Given the description of an element on the screen output the (x, y) to click on. 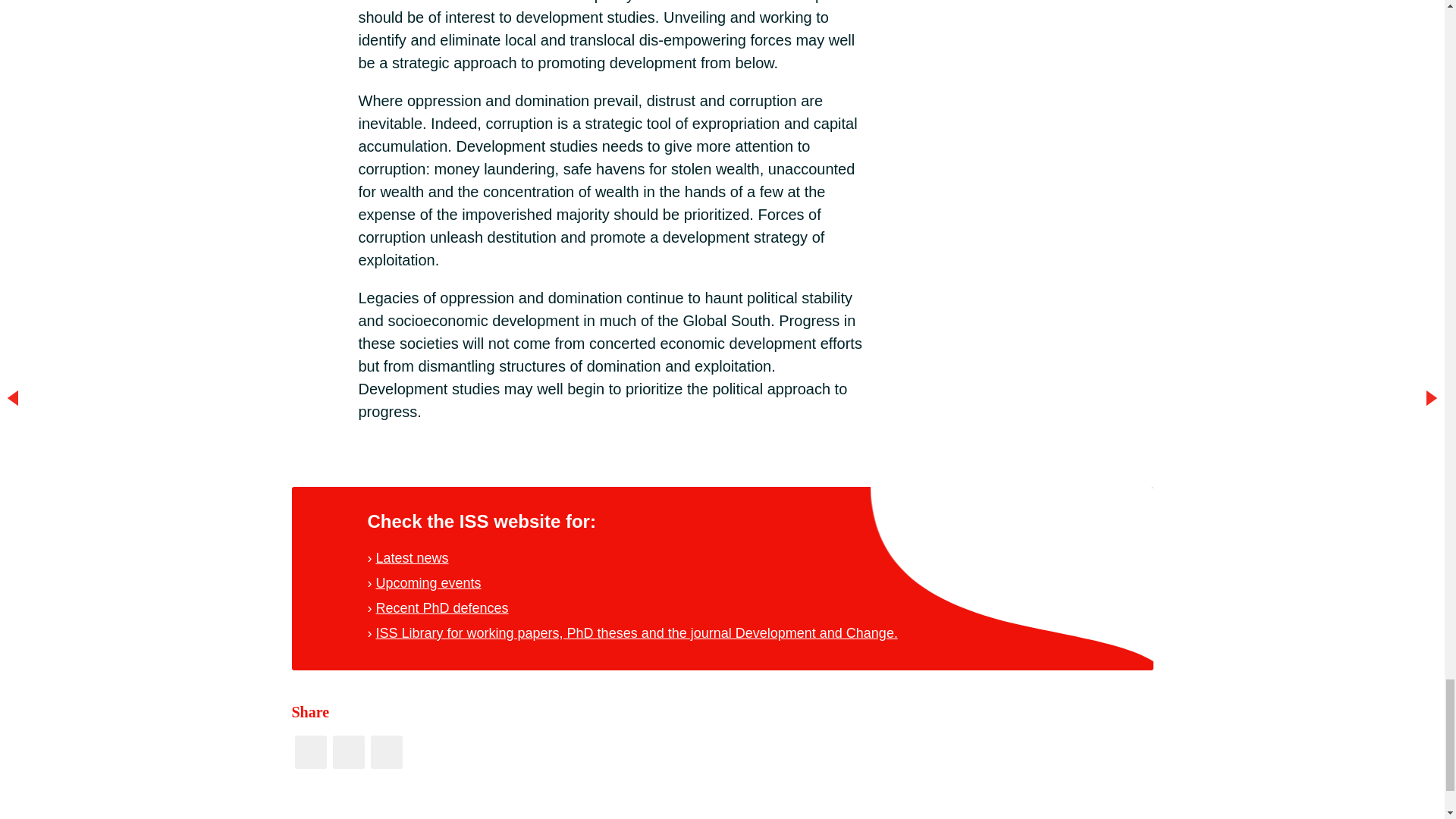
Recent PhD defences (441, 607)
Latest news (411, 557)
Share to Twitter (347, 752)
Upcoming events (428, 582)
Share to Linkedin (385, 752)
Share to Facebook (310, 752)
